Given the description of an element on the screen output the (x, y) to click on. 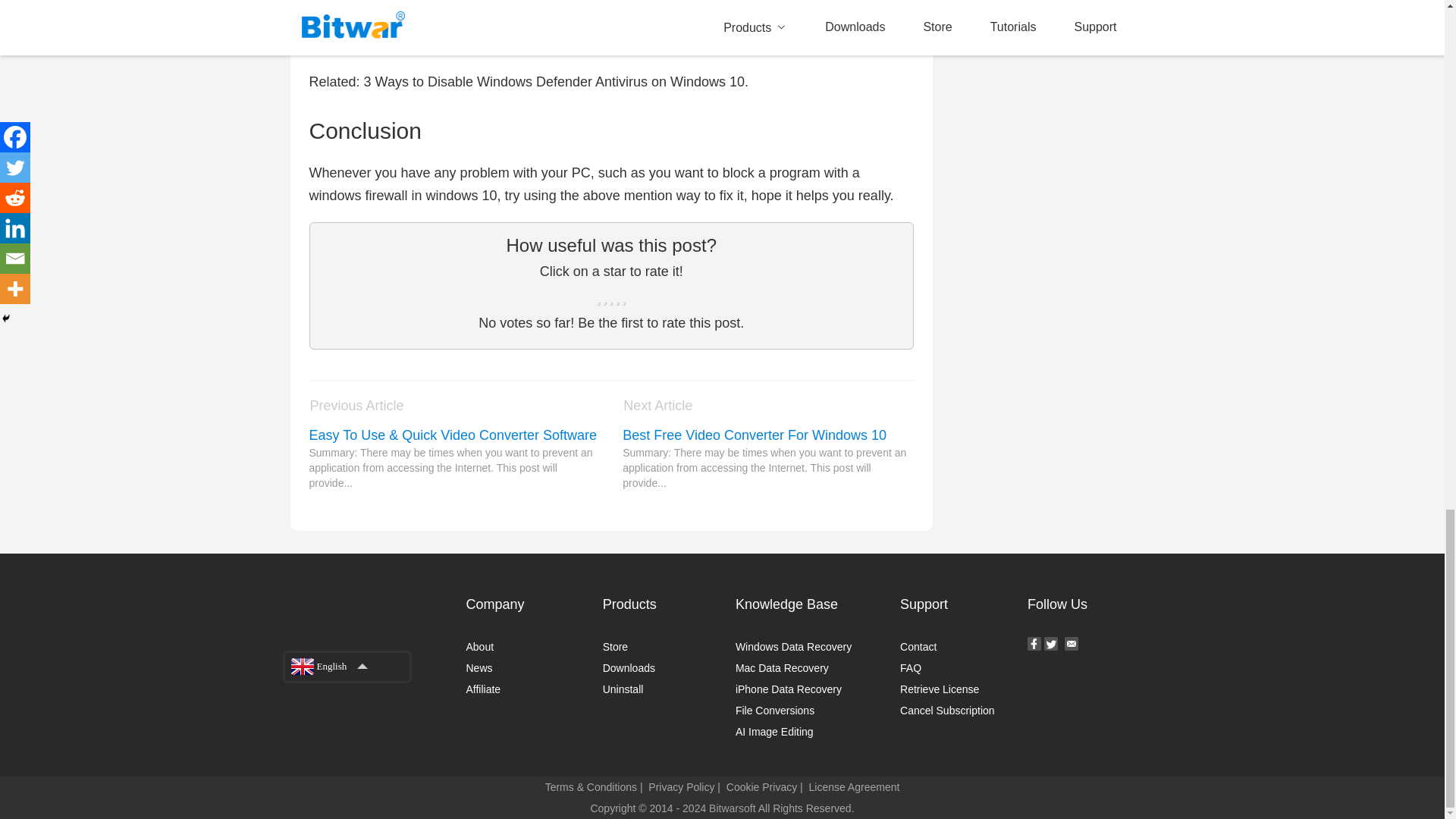
Best Free Video Converter For Windows 10 (768, 435)
